Given the description of an element on the screen output the (x, y) to click on. 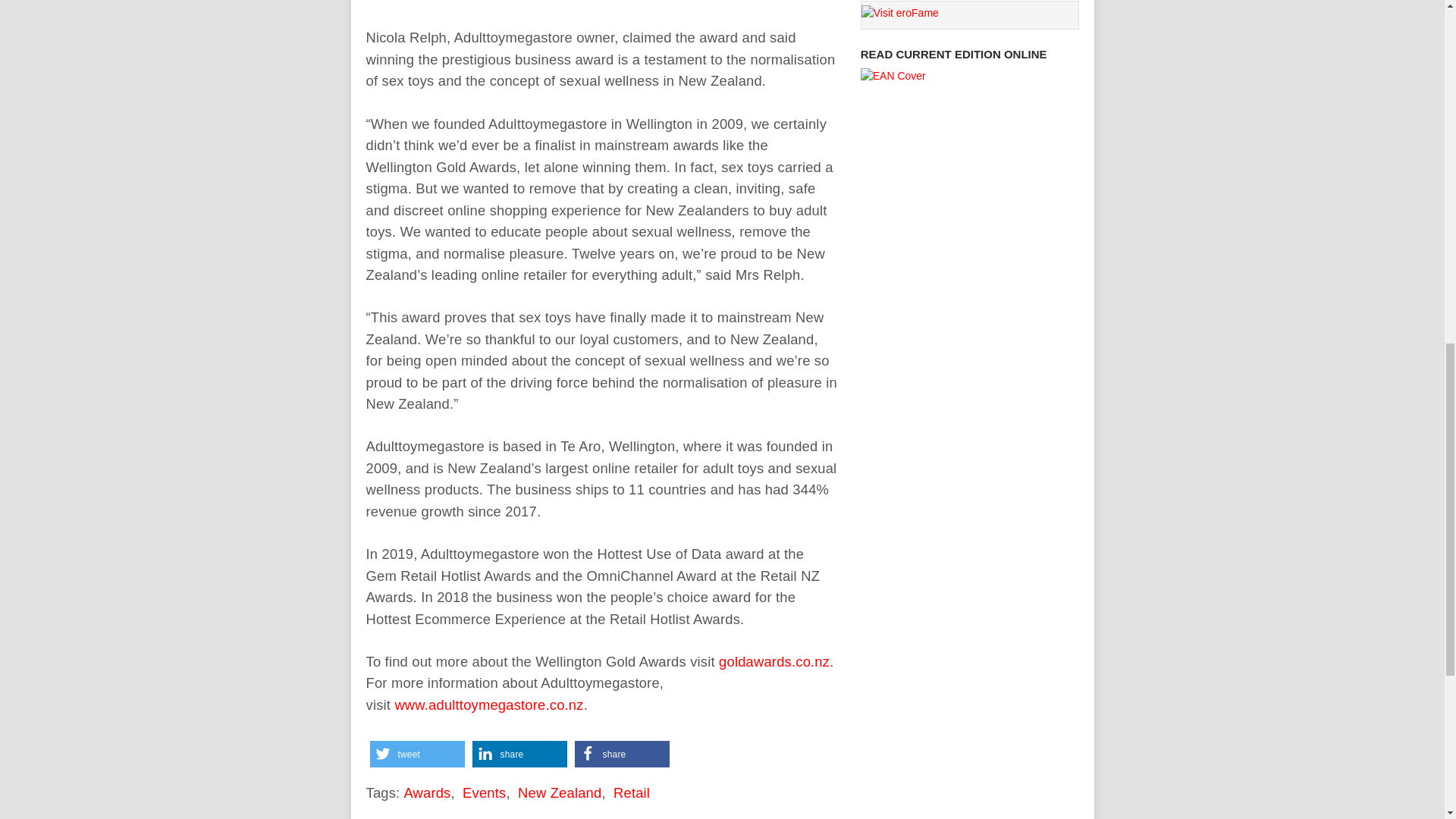
goldawards.co.nz (774, 661)
Share on Facebook (622, 754)
Share on LinkedIn (518, 754)
share  (518, 754)
share  (622, 754)
tweet  (416, 754)
Events (484, 792)
New Zealand (559, 792)
Awards (426, 792)
Share on Twitter (416, 754)
Retail (630, 792)
www.adulttoymegastore.co.nz (488, 704)
